Given the description of an element on the screen output the (x, y) to click on. 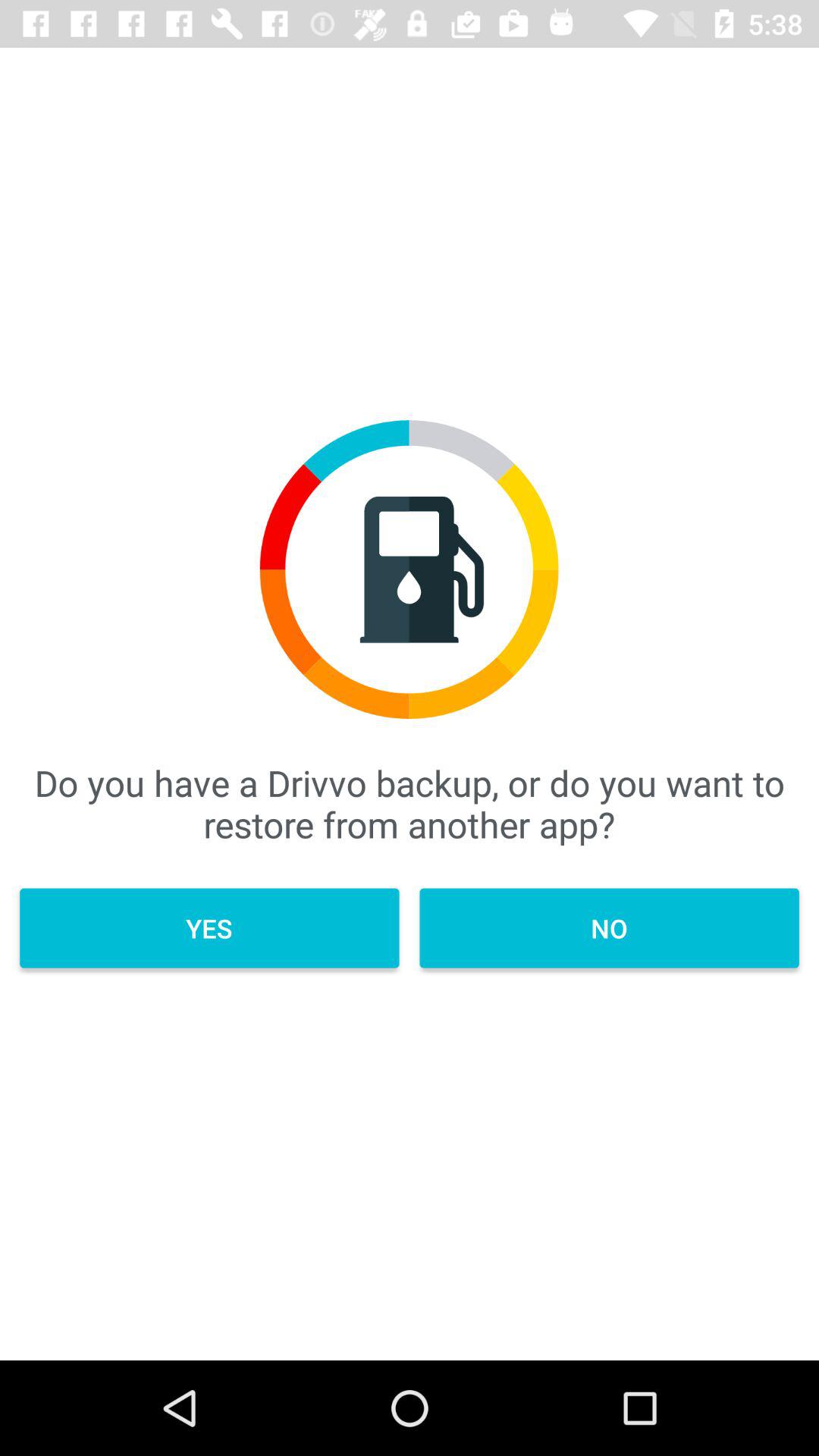
select icon to the right of yes icon (609, 928)
